Given the description of an element on the screen output the (x, y) to click on. 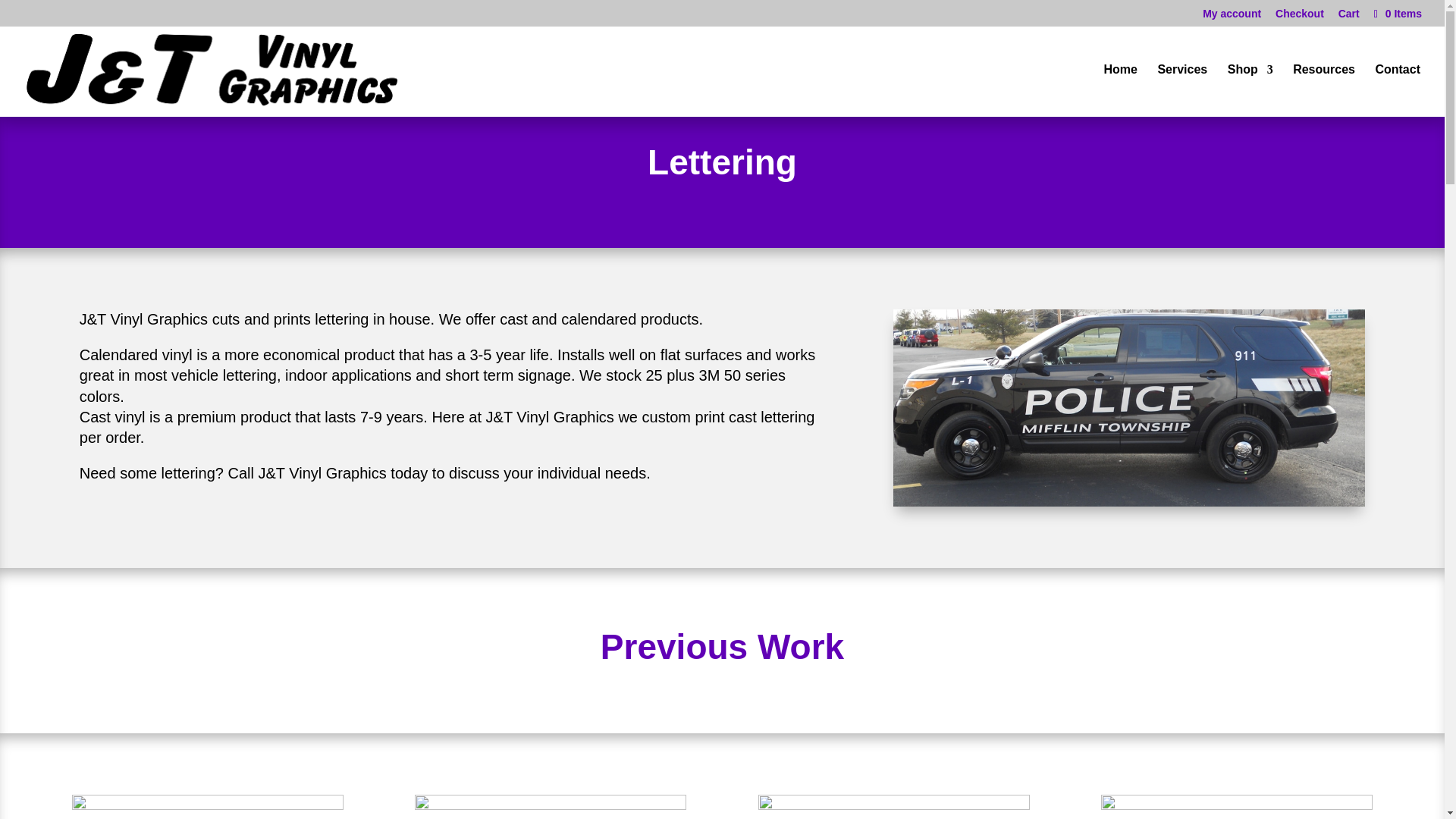
Checkout (1299, 16)
Services (1182, 90)
Lettering 011 (893, 805)
Cart (1348, 16)
Resources (1323, 90)
My account (1231, 16)
0 Items (1396, 13)
Lettering 013 (207, 805)
Lettering 012 (549, 805)
Lettering 010 (1236, 805)
